Given the description of an element on the screen output the (x, y) to click on. 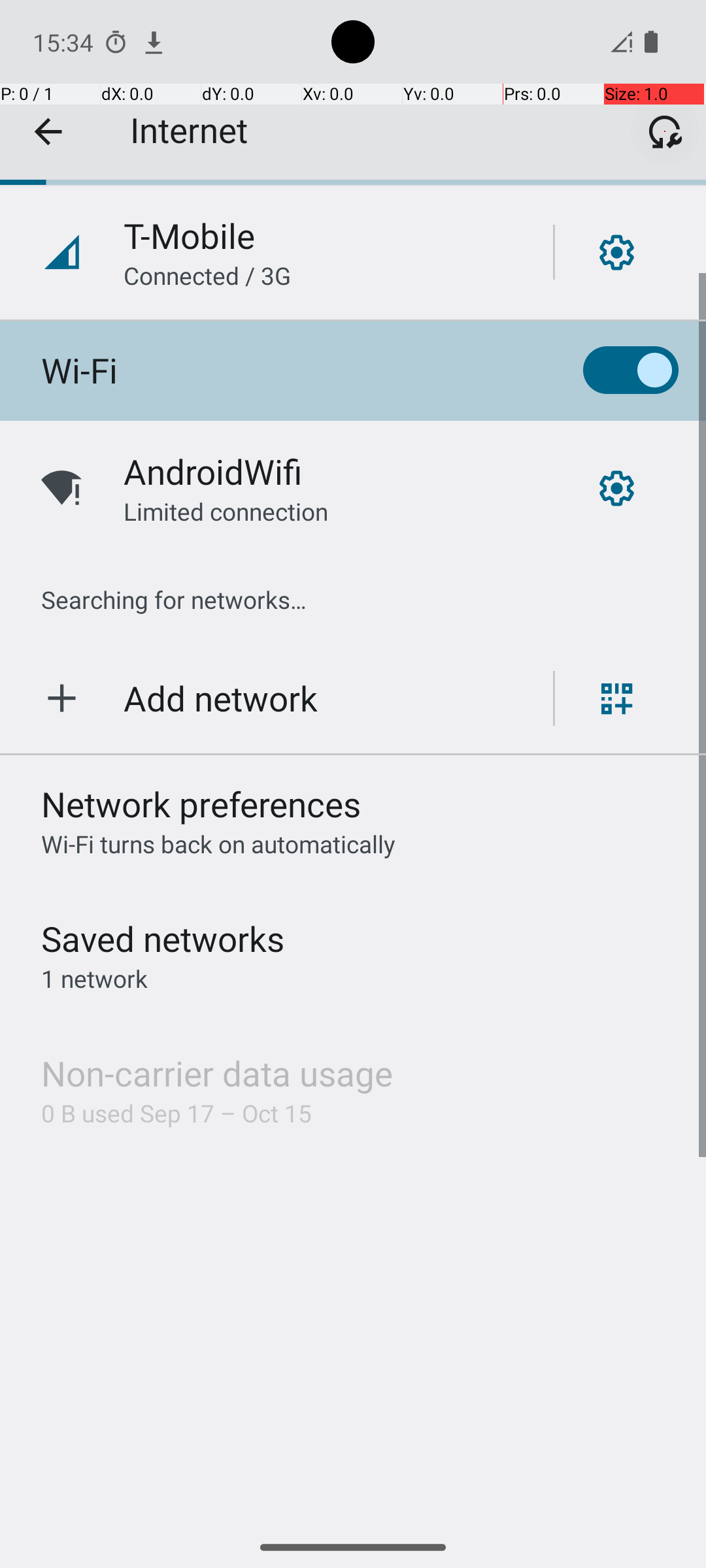
Fix connectivity Element type: android.widget.TextView (664, 131)
AndroidWifi,Limited connection,Wifi signal full.,Open network Element type: android.widget.LinearLayout (353, 487)
Connected / 3G Element type: android.widget.TextView (206, 275)
AndroidWifi Element type: android.widget.TextView (212, 471)
Limited connection Element type: android.widget.TextView (225, 510)
Searching for networks… Element type: android.widget.TextView (173, 599)
Add network Element type: android.widget.TextView (220, 697)
Scan QR code Element type: android.widget.ImageButton (616, 698)
Wi‑Fi turns back on automatically Element type: android.widget.TextView (218, 843)
1 network Element type: android.widget.TextView (94, 978)
0 B used Sep 17 – Oct 15 Element type: android.widget.TextView (176, 1112)
